Given the description of an element on the screen output the (x, y) to click on. 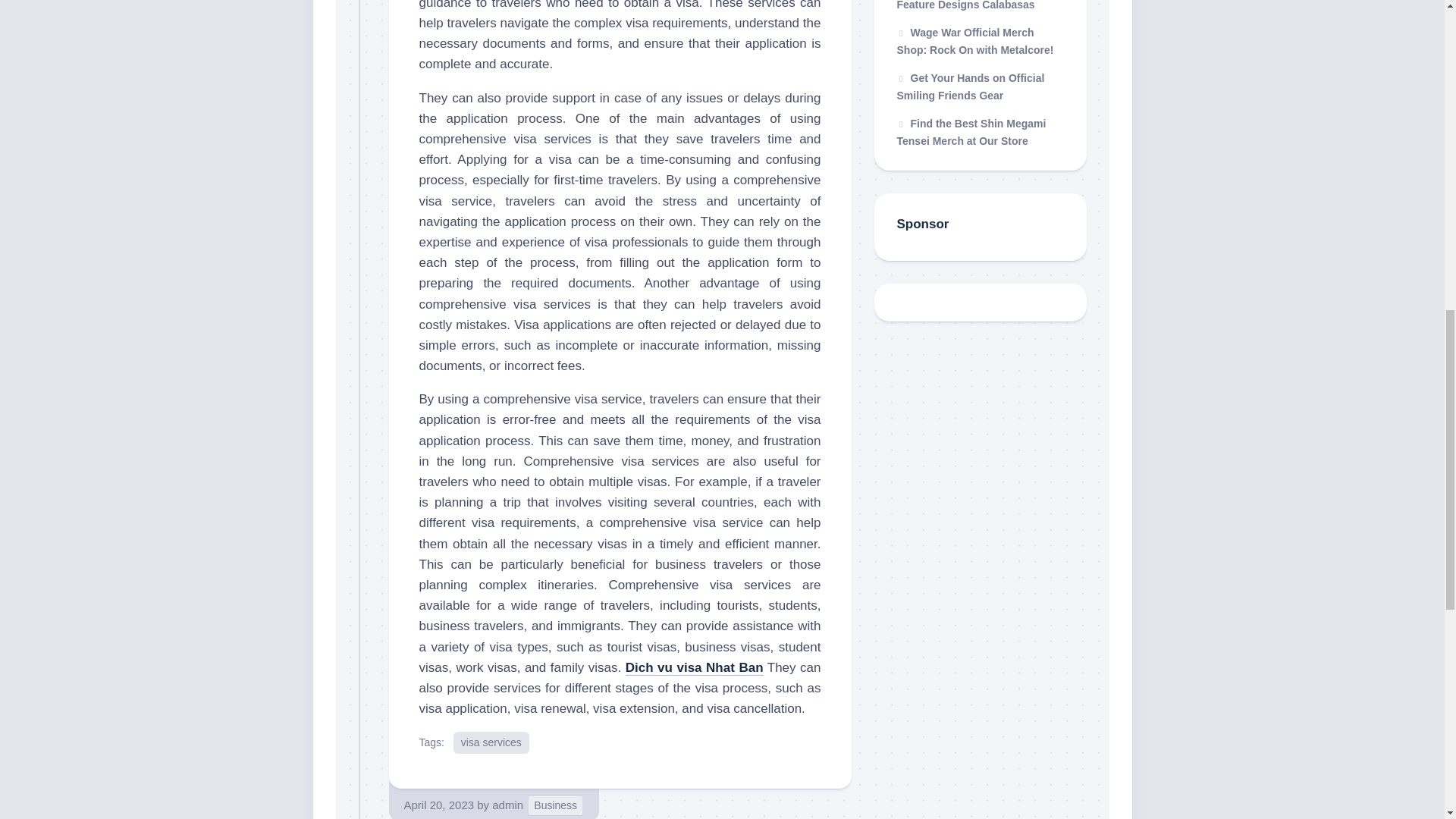
admin (507, 804)
Posts by admin (507, 804)
Business (555, 805)
Get Your Hands on Official Smiling Friends Gear (969, 87)
Dich vu visa Nhat Ban (694, 667)
Wage War Official Merch Shop: Rock On with Metalcore! (974, 41)
visa services (490, 742)
Find the Best Shin Megami Tensei Merch at Our Store (970, 132)
Terraced Garden and Water Feature Designs Calabasas (972, 5)
